Given the description of an element on the screen output the (x, y) to click on. 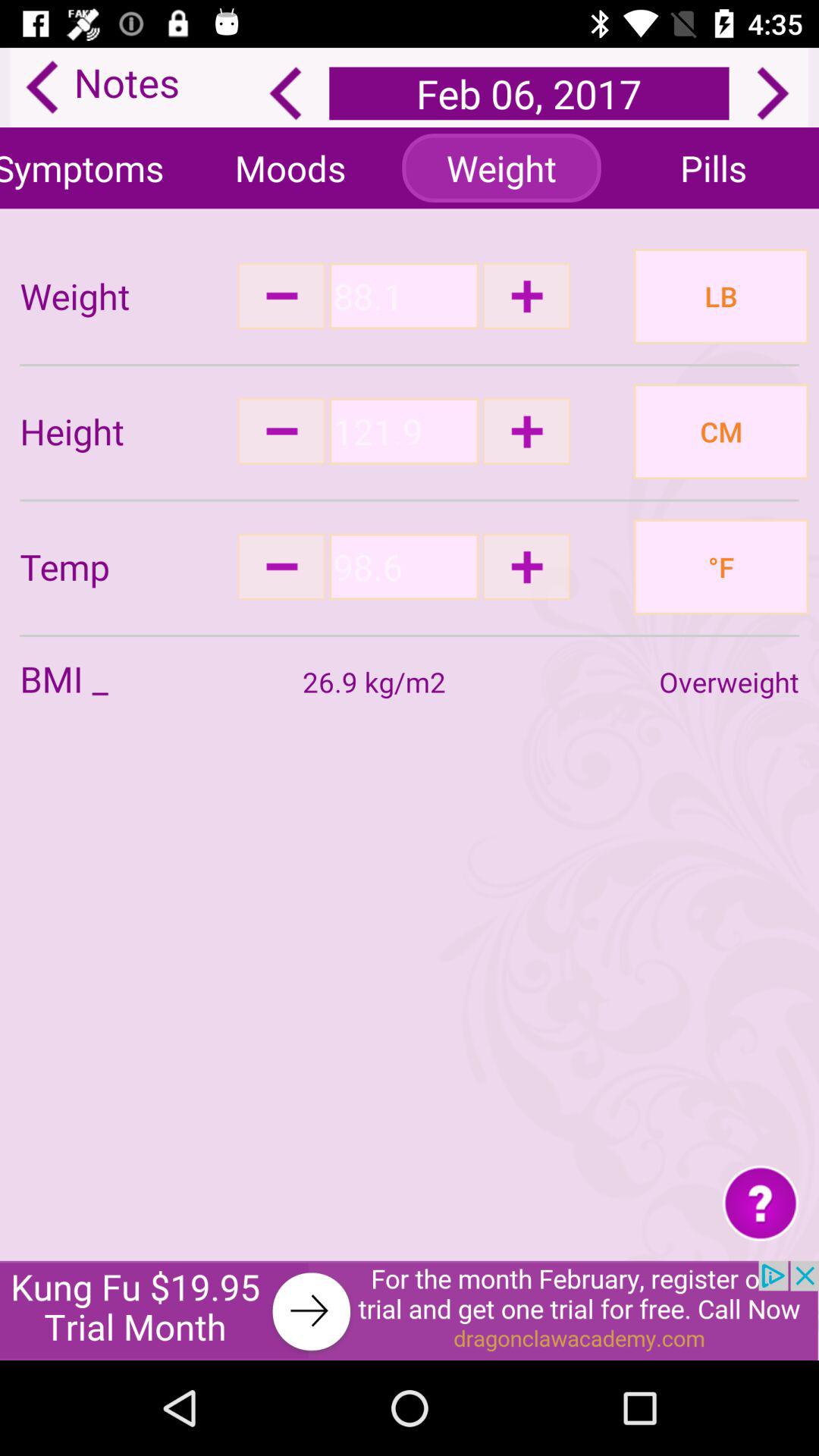
go back (285, 93)
